Given the description of an element on the screen output the (x, y) to click on. 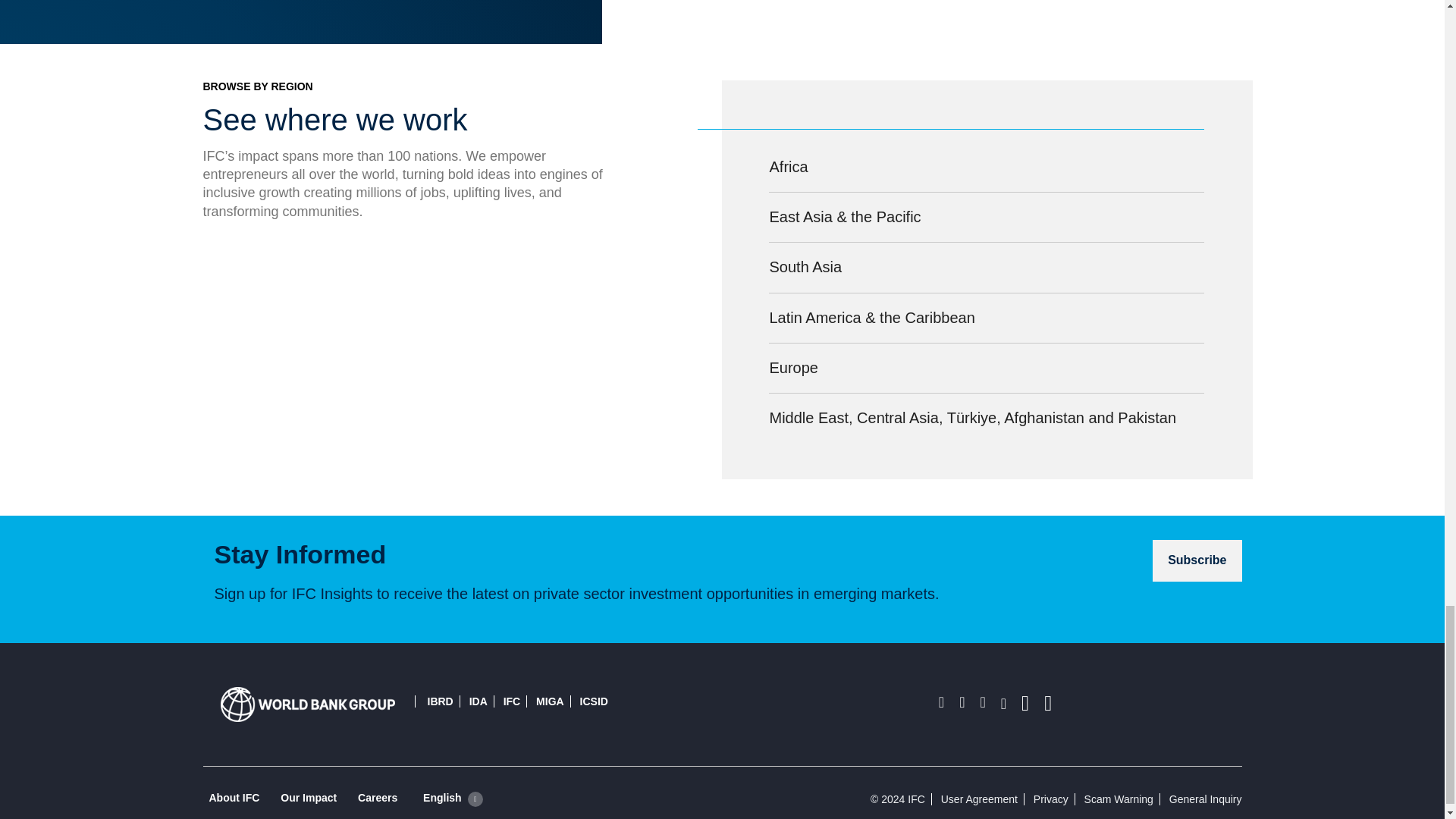
Logo Image Title (306, 704)
